Given the description of an element on the screen output the (x, y) to click on. 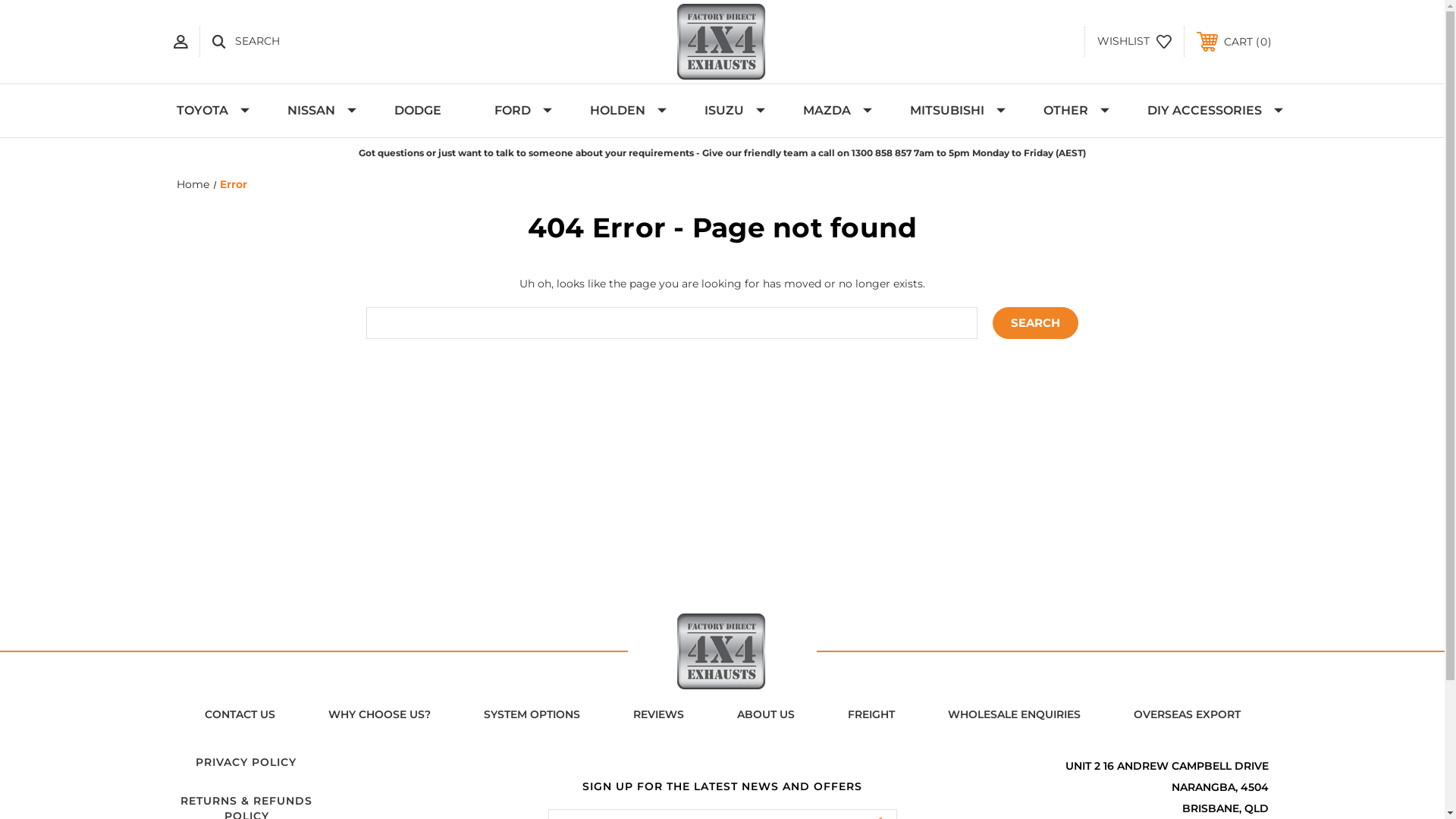
ABOUT US Element type: text (764, 714)
WHY CHOOSE US? Element type: text (379, 714)
Factory Direct 4x4 Exhausts Element type: hover (721, 651)
WISHLIST Element type: text (1133, 41)
SEARCH Element type: text (245, 41)
TOYOTA Element type: text (205, 110)
WHOLESALE ENQUIRIES Element type: text (1013, 714)
ISUZU Element type: text (726, 110)
MAZDA Element type: text (829, 110)
DODGE Element type: text (417, 110)
DIY ACCESSORIES Element type: text (1207, 110)
FREIGHT Element type: text (870, 714)
CART 0 Element type: text (1233, 41)
PRIVACY POLICY Element type: text (245, 761)
SYSTEM OPTIONS Element type: text (530, 714)
FORD Element type: text (515, 110)
Search Element type: text (1035, 322)
Home Element type: text (191, 184)
OVERSEAS EXPORT Element type: text (1187, 714)
CONTACT US Element type: text (239, 714)
HOLDEN Element type: text (620, 110)
Error Element type: text (233, 184)
Factory Direct 4x4 Exhausts Element type: hover (722, 41)
NISSAN Element type: text (313, 110)
MITSUBISHI Element type: text (949, 110)
OTHER Element type: text (1068, 110)
REVIEWS Element type: text (658, 714)
